Given the description of an element on the screen output the (x, y) to click on. 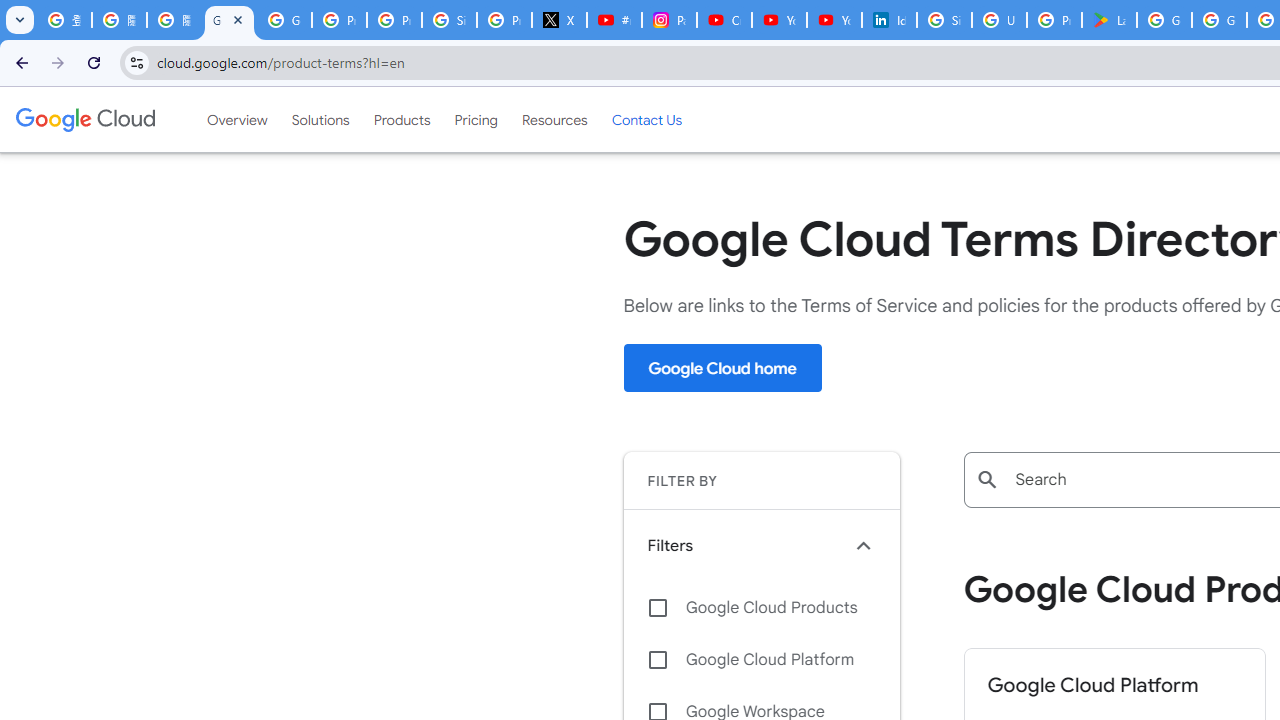
Resources (553, 119)
#nbabasketballhighlights - YouTube (614, 20)
Google Cloud Platform (761, 660)
Google Cloud Terms Directory | Google Cloud (229, 20)
Last Shelter: Survival - Apps on Google Play (1108, 20)
Google Cloud home (722, 367)
Google Cloud Products (761, 607)
